Given the description of an element on the screen output the (x, y) to click on. 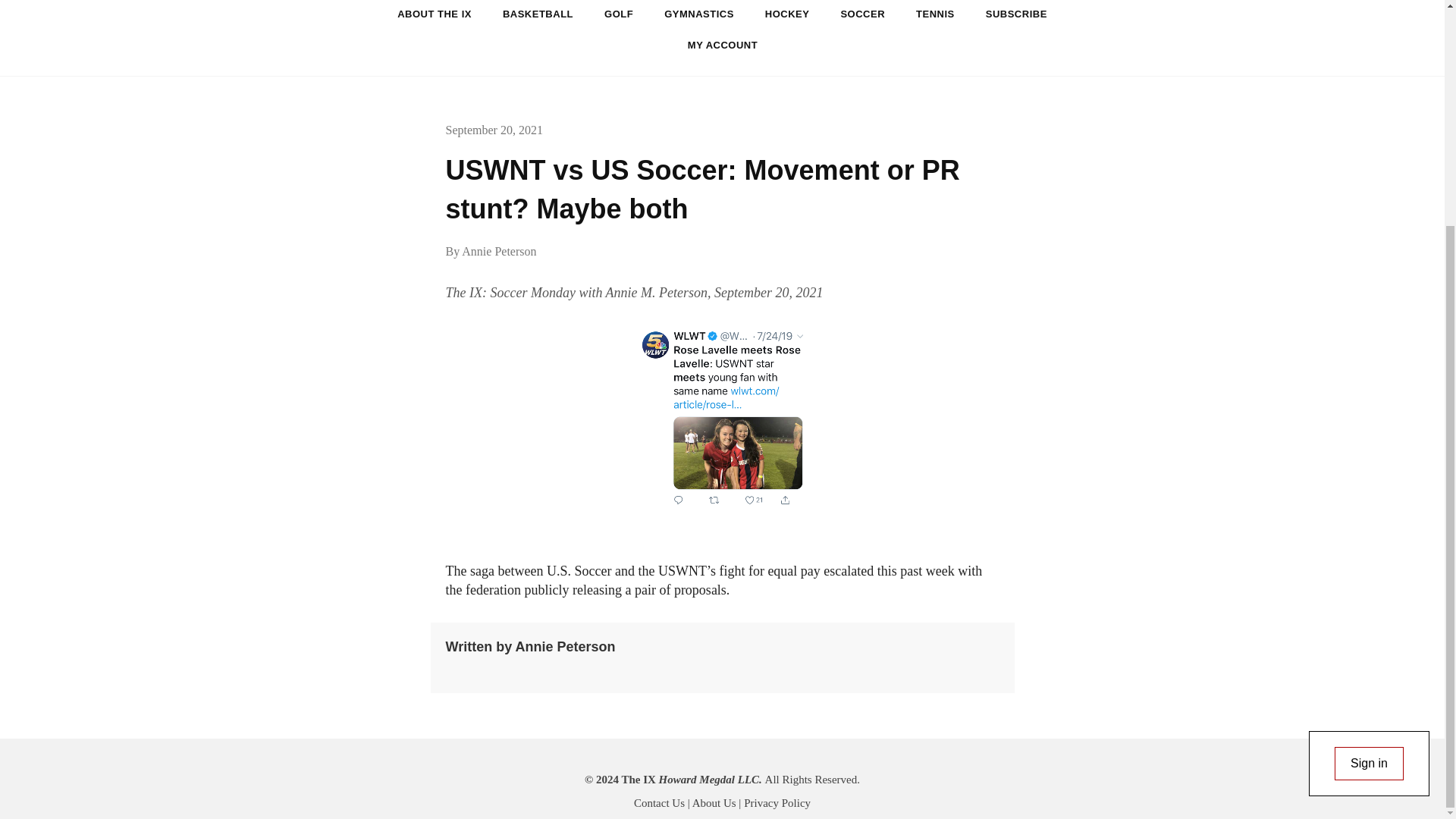
MY ACCOUNT (722, 44)
SOCCER (862, 14)
SUBSCRIBE (1016, 14)
BASKETBALL (537, 14)
The IX: Soccer Monday with Anne M. Peterson, August 12, 2019 (721, 416)
HOCKEY (787, 14)
GYMNASTICS (699, 14)
Annie Peterson (498, 250)
TENNIS (935, 14)
GOLF (618, 14)
ABOUT THE IX (433, 14)
